Given the description of an element on the screen output the (x, y) to click on. 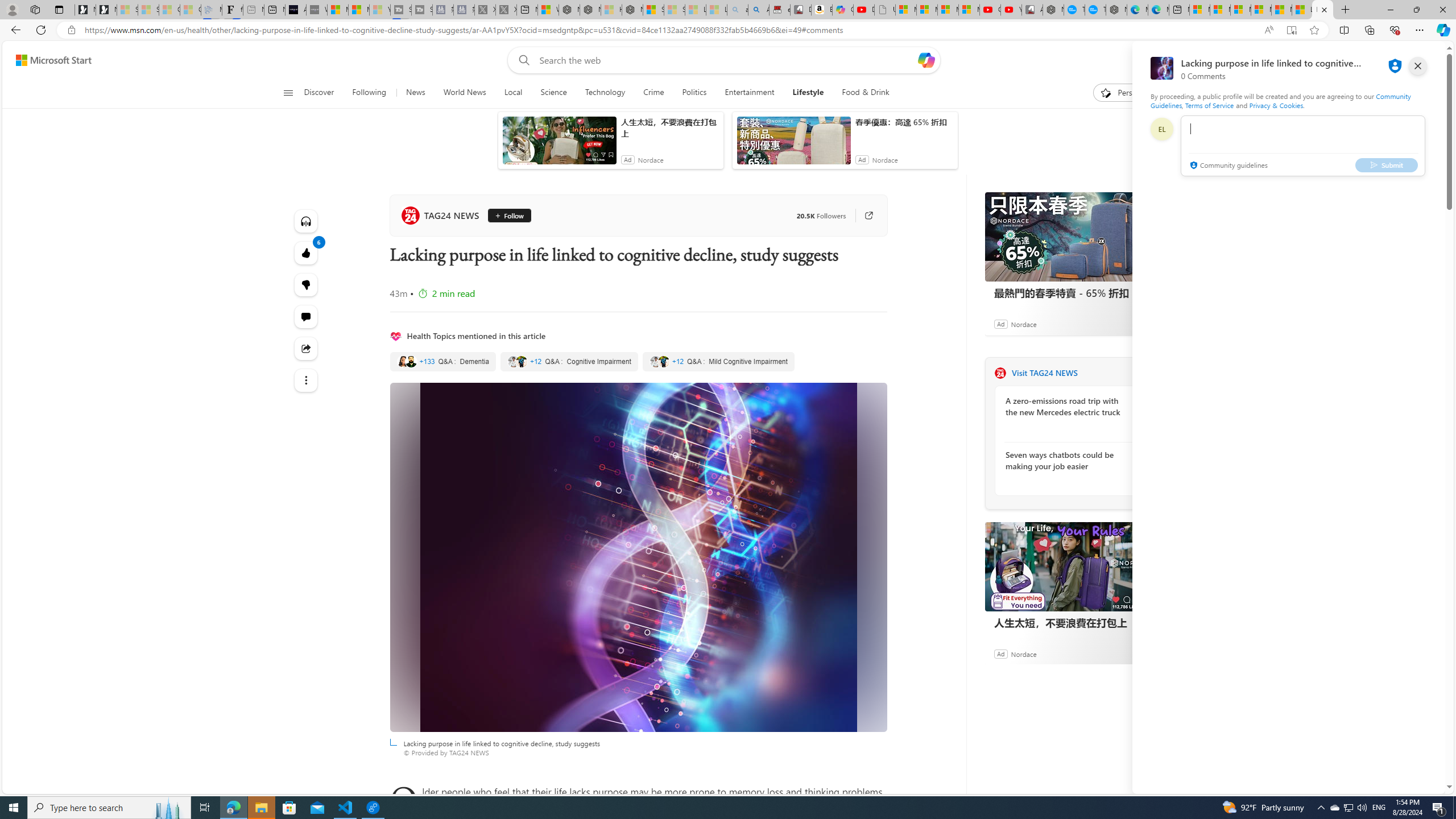
Open settings (1420, 60)
Web search (520, 60)
Mild cognitive impairment (718, 361)
Crime (653, 92)
More like this6Fewer like thisStart the conversation (305, 284)
All Cubot phones (1032, 9)
Enter Immersive Reader (F9) (1291, 29)
TAG24 NEWS (1000, 372)
Listen to this article (305, 220)
